Given the description of an element on the screen output the (x, y) to click on. 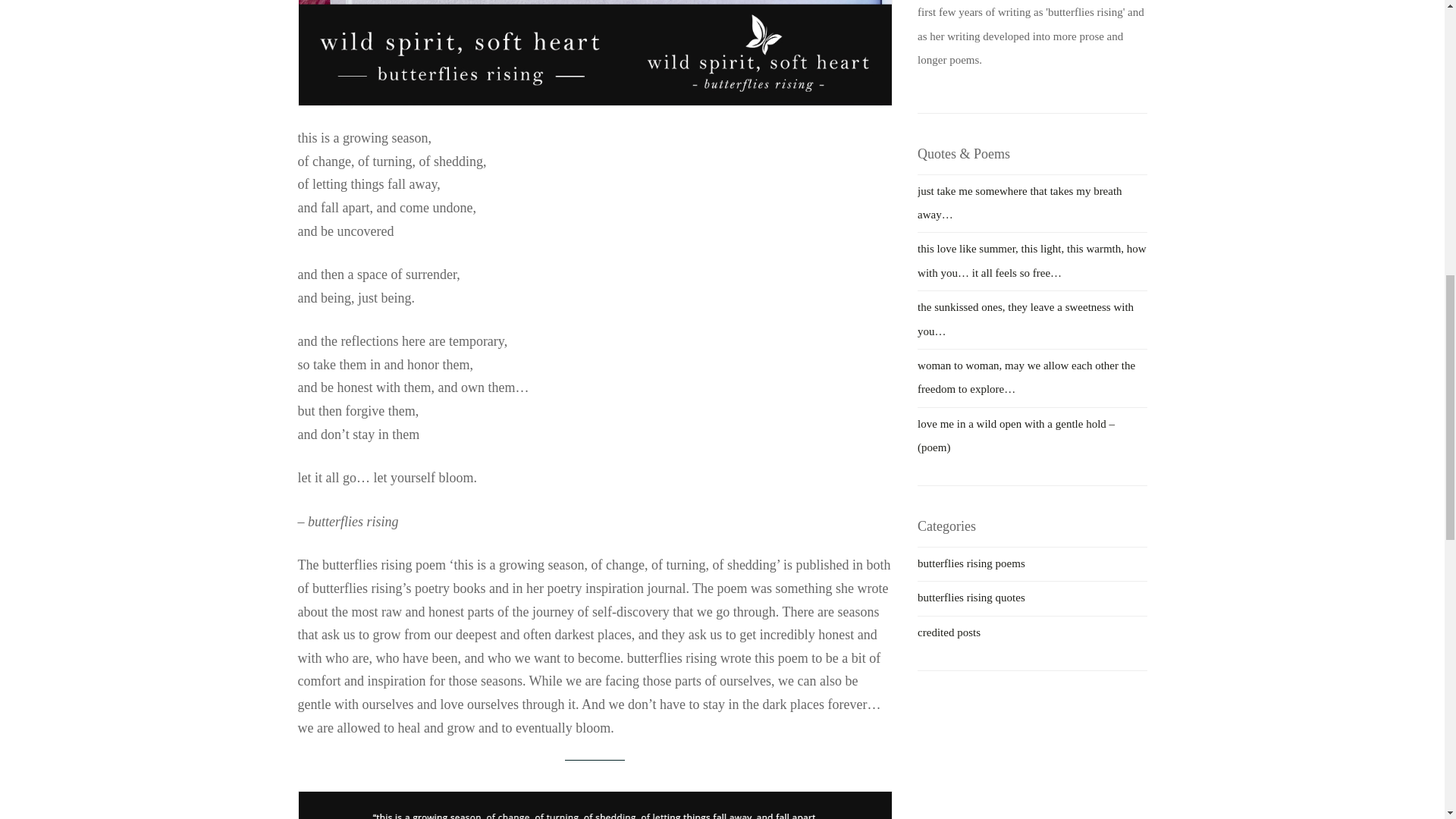
credited posts (948, 632)
butterflies rising quotes (971, 597)
butterflies rising poems (971, 563)
